Given the description of an element on the screen output the (x, y) to click on. 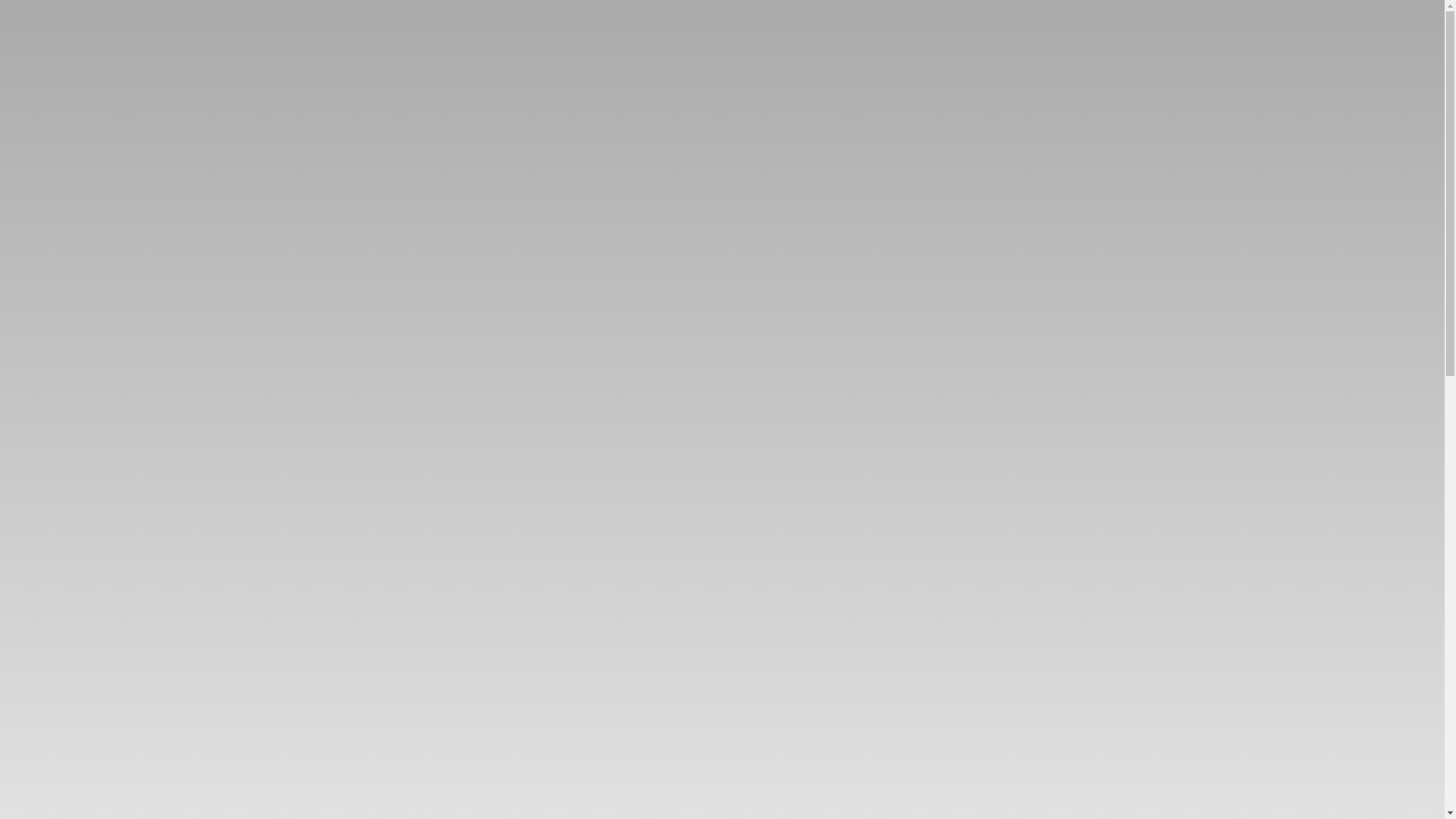
ACCESS (49, 325)
Shokoku-ji (665, 22)
Kinkaku-ji (769, 22)
GUIDE (49, 265)
Ginkaku-ji (871, 22)
FAQ (49, 356)
GALLERY (49, 295)
Jotenkaku Museum (1001, 22)
ABOUT (49, 234)
